Given the description of an element on the screen output the (x, y) to click on. 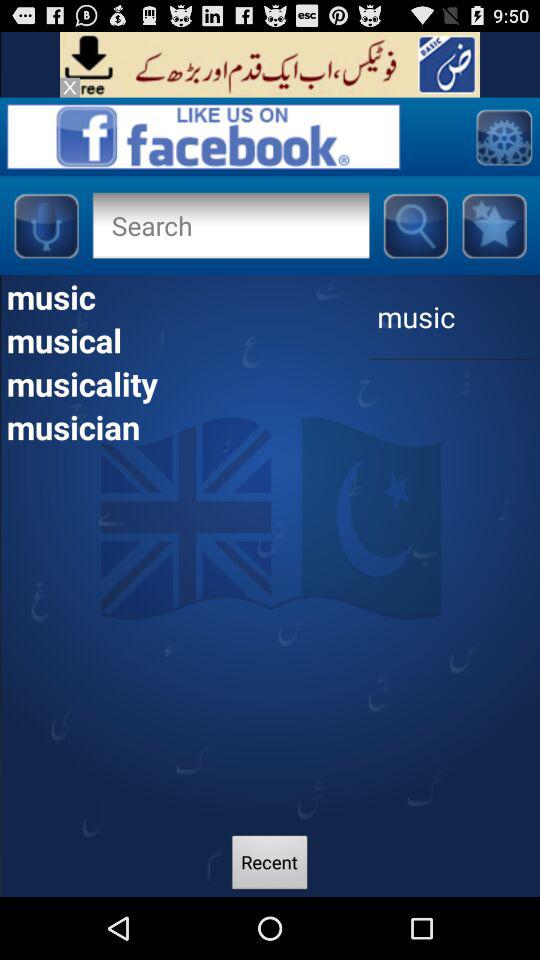
facebook (493, 225)
